Given the description of an element on the screen output the (x, y) to click on. 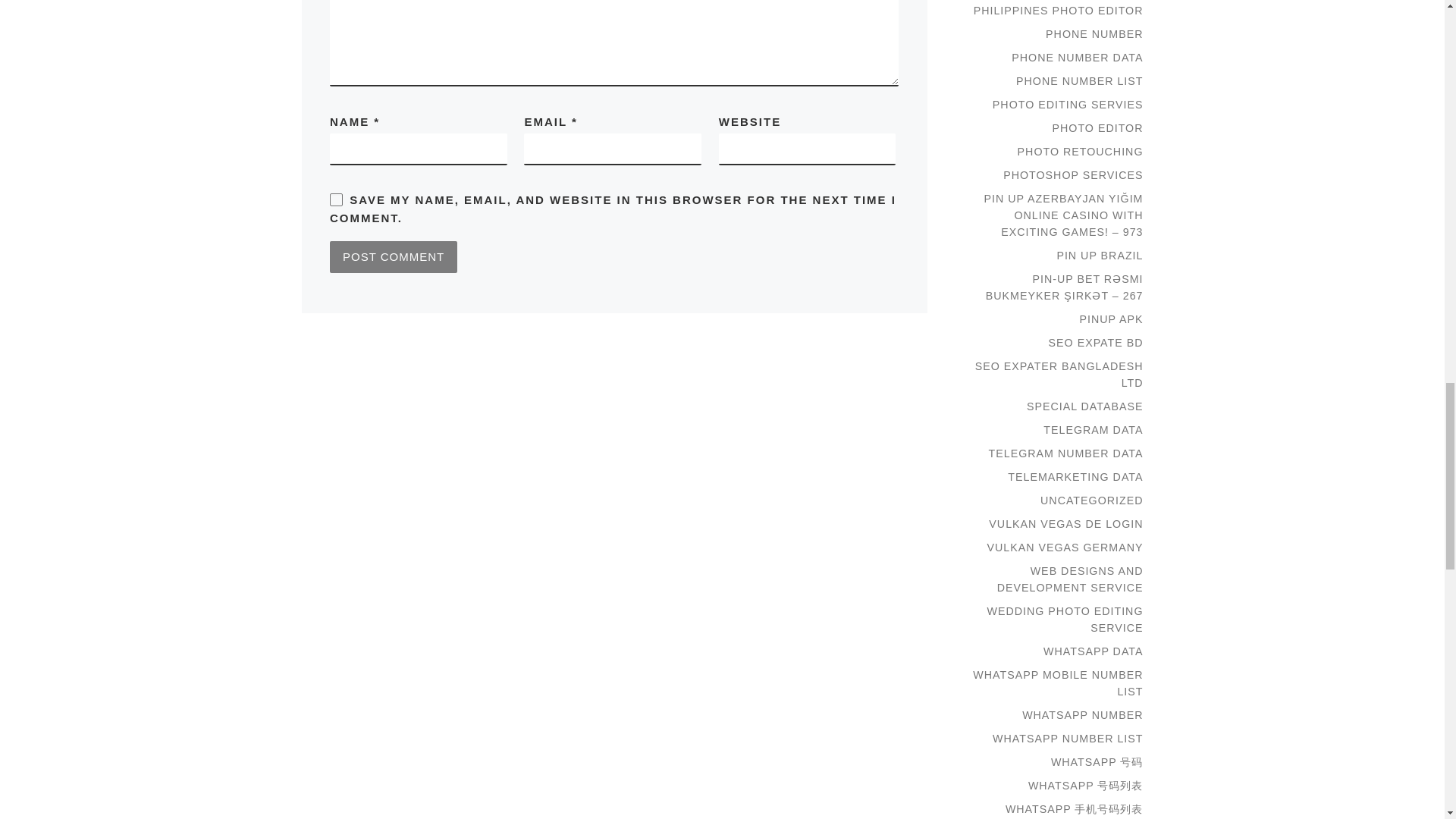
yes (336, 199)
Post Comment (393, 256)
